Given the description of an element on the screen output the (x, y) to click on. 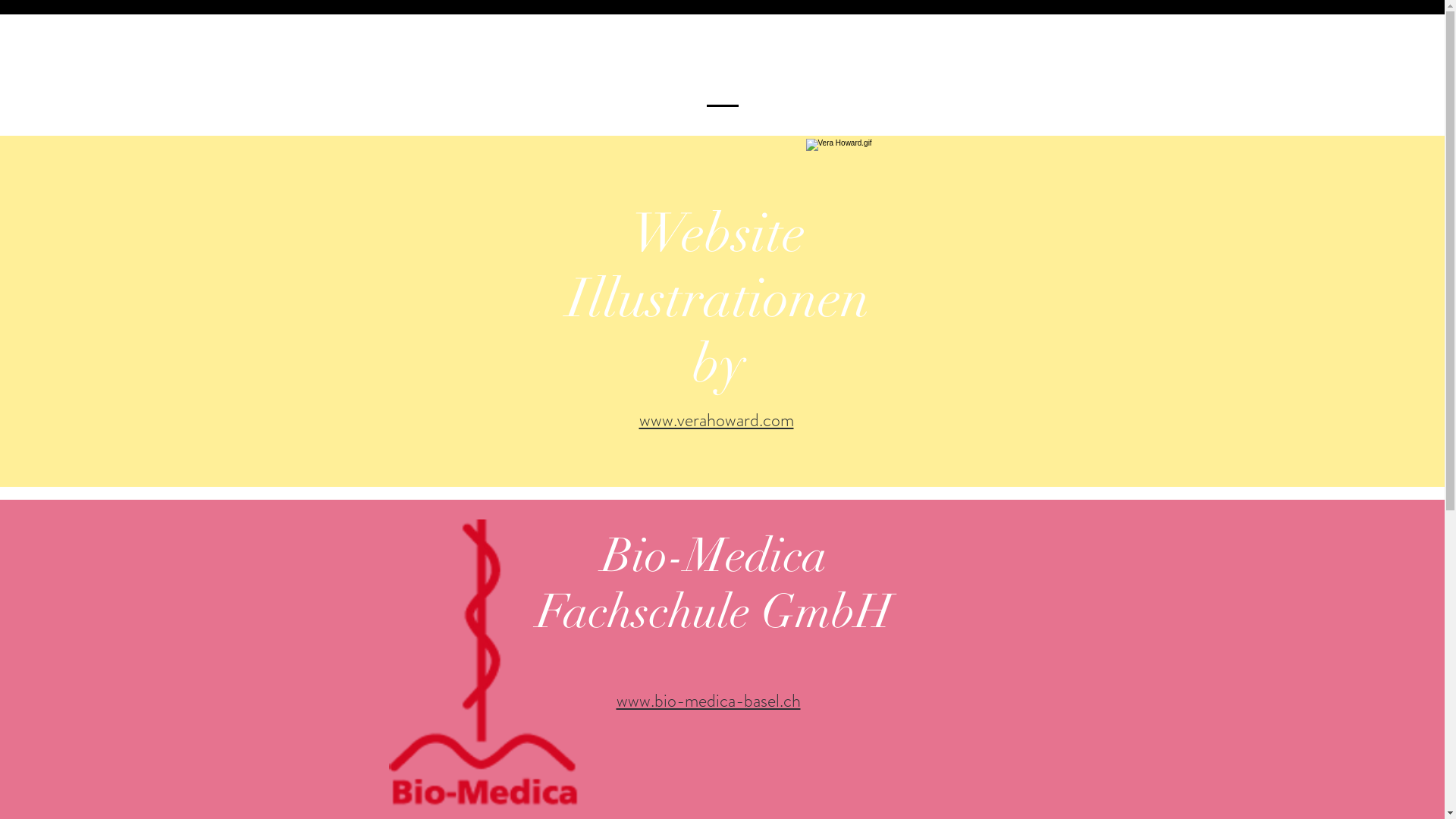
www.verahoward.com Element type: text (715, 420)
www.bio-medica-basel.ch Element type: text (707, 700)
